Given the description of an element on the screen output the (x, y) to click on. 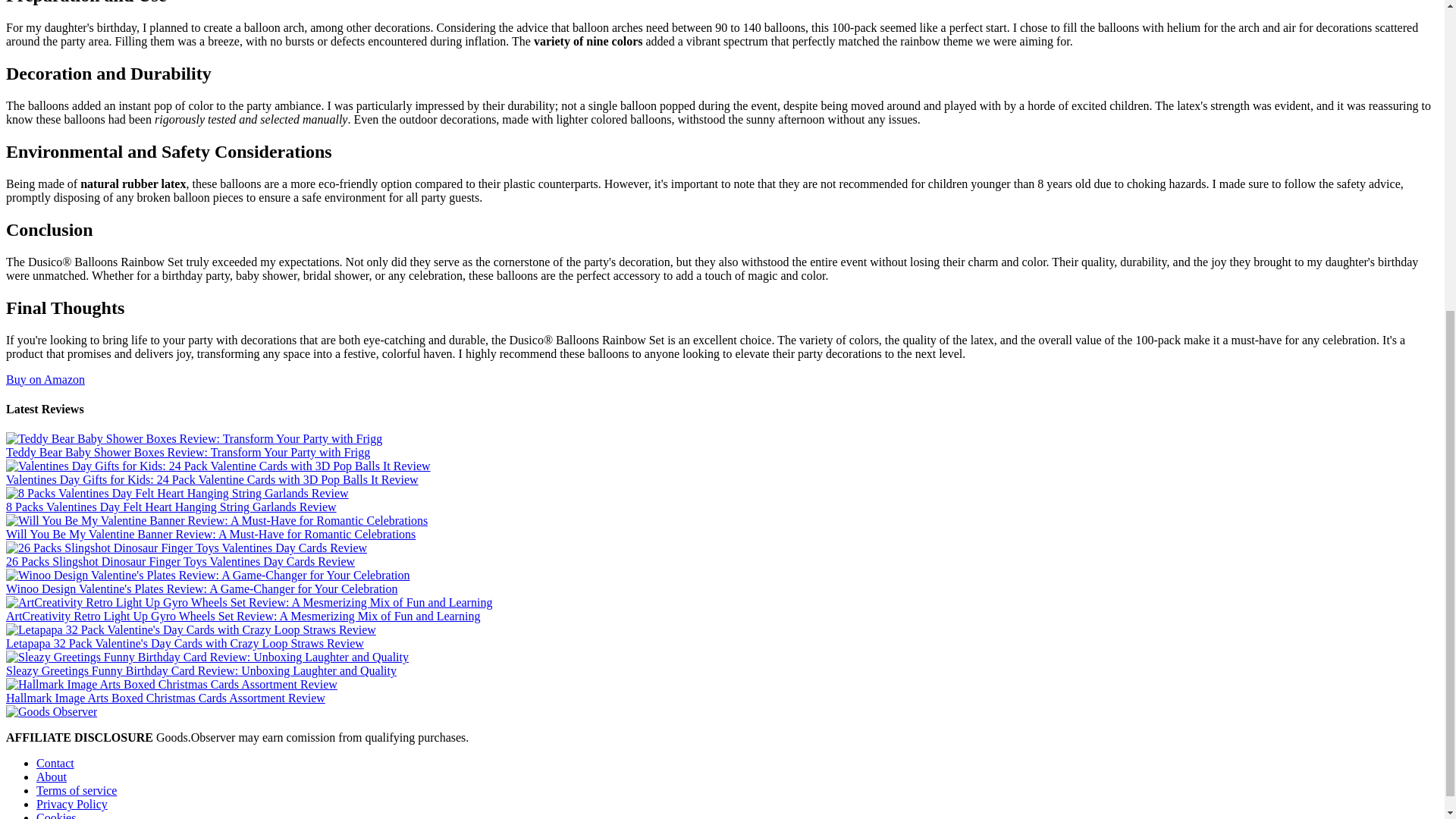
Hallmark Image Arts Boxed Christmas Cards Assortment Review (164, 697)
Contact (55, 762)
Buy on Amazon (44, 378)
About (51, 776)
Privacy Policy (71, 803)
Terms of service (76, 789)
